Given the description of an element on the screen output the (x, y) to click on. 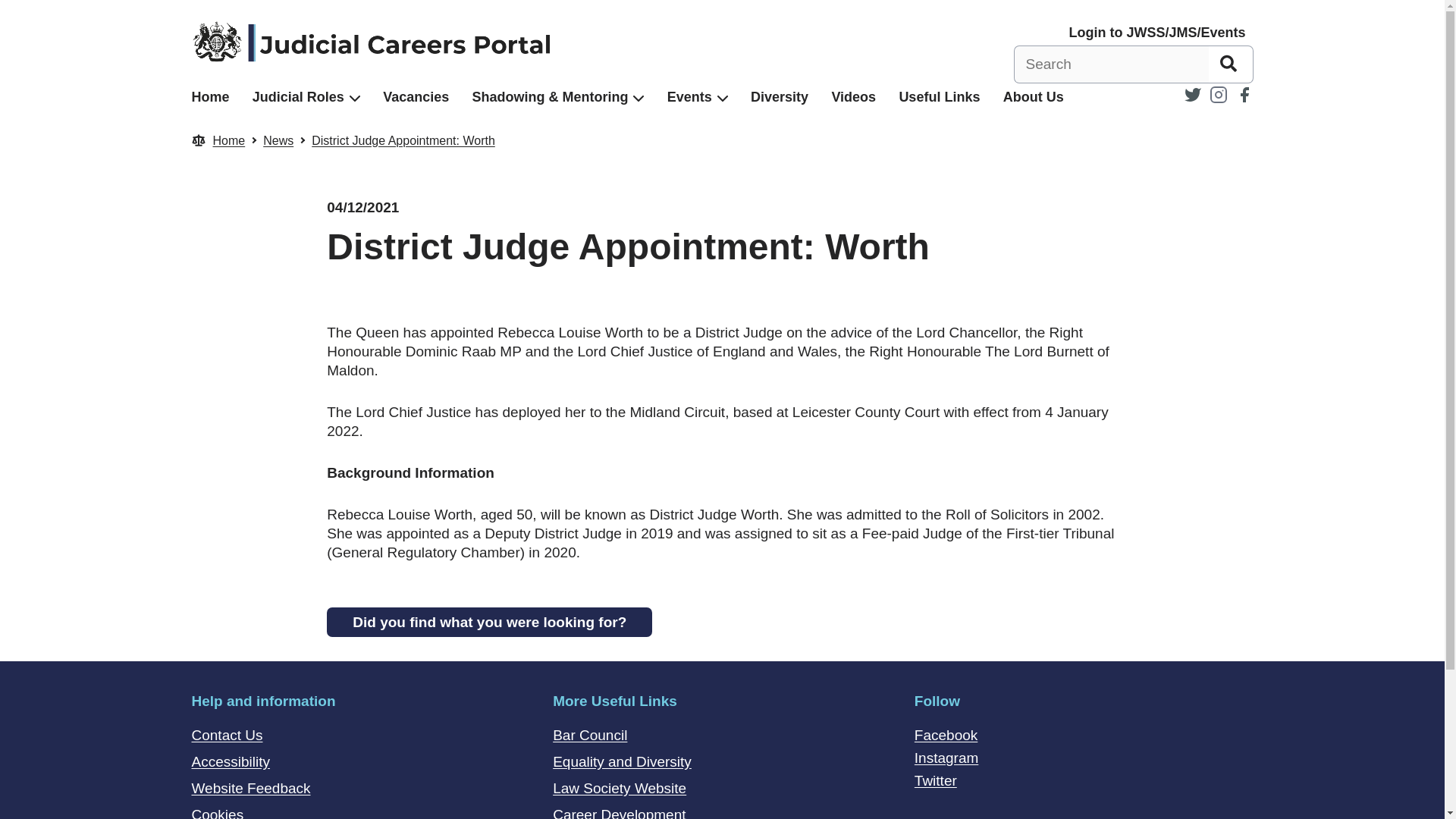
Vacancies (415, 97)
Judicial Roles (297, 97)
Skip to main content (11, 7)
About Us (1033, 97)
Home (228, 140)
Diversity (779, 97)
Events (688, 97)
News (278, 140)
District Judge Appointment: Worth (403, 140)
Useful Links (938, 97)
Home (209, 97)
Videos (853, 97)
